Given the description of an element on the screen output the (x, y) to click on. 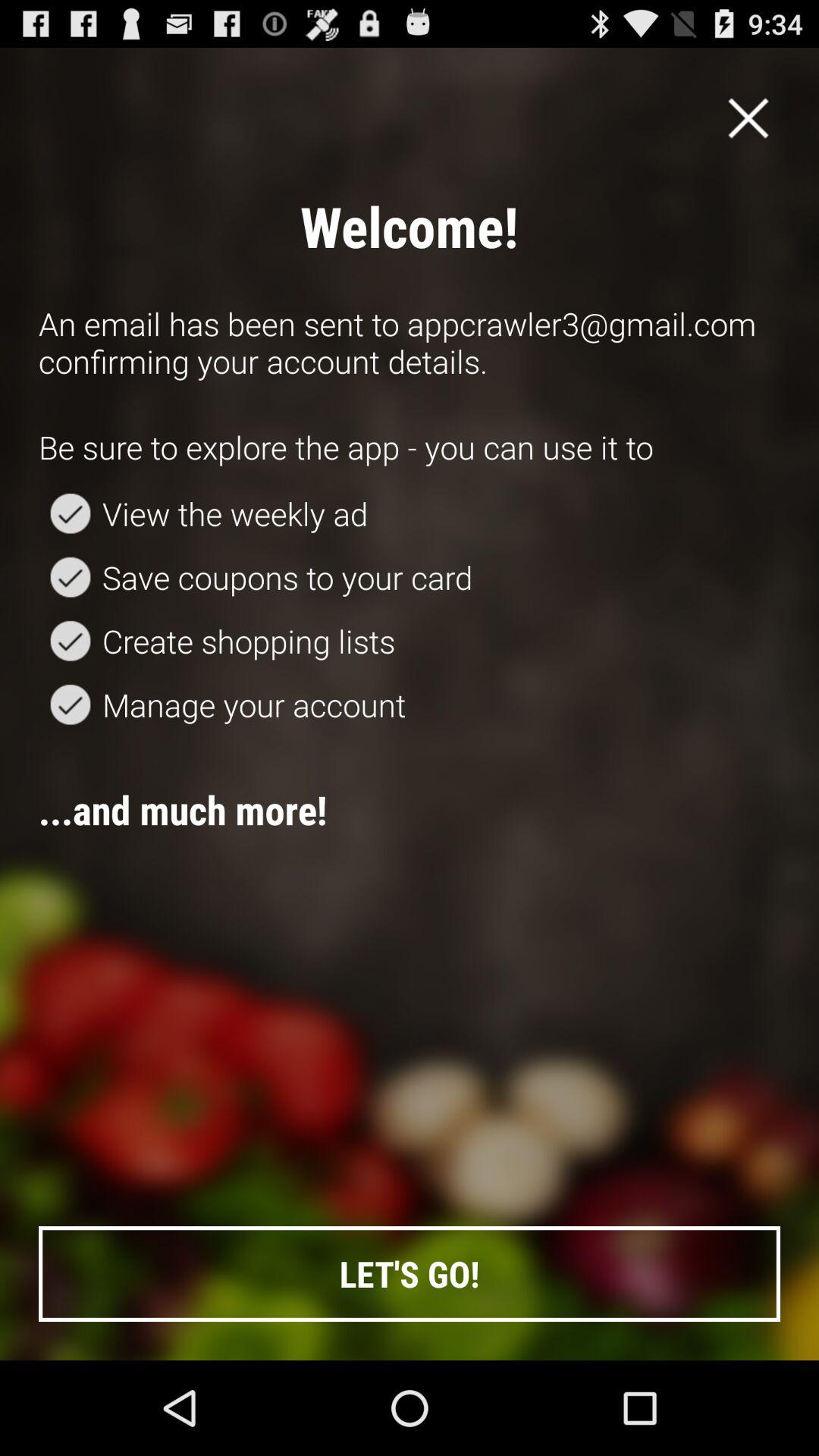
scroll until the let's go! button (409, 1273)
